Given the description of an element on the screen output the (x, y) to click on. 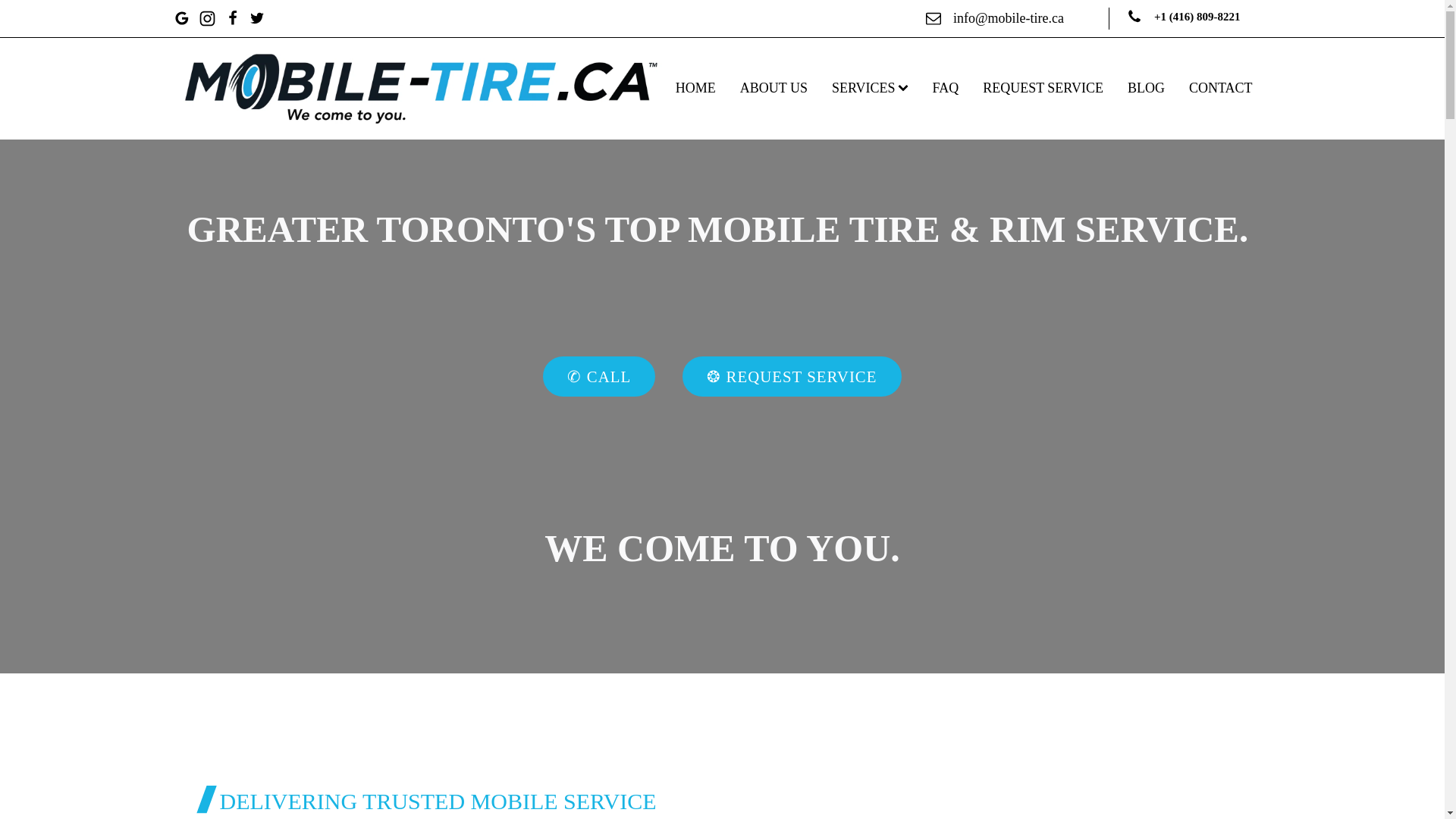
BLOG (1145, 87)
ABOUT US (773, 87)
REQUEST SERVICE (1043, 87)
HOME (695, 87)
FAQ (945, 87)
CONTACT (1220, 87)
SERVICES (869, 87)
